Given the description of an element on the screen output the (x, y) to click on. 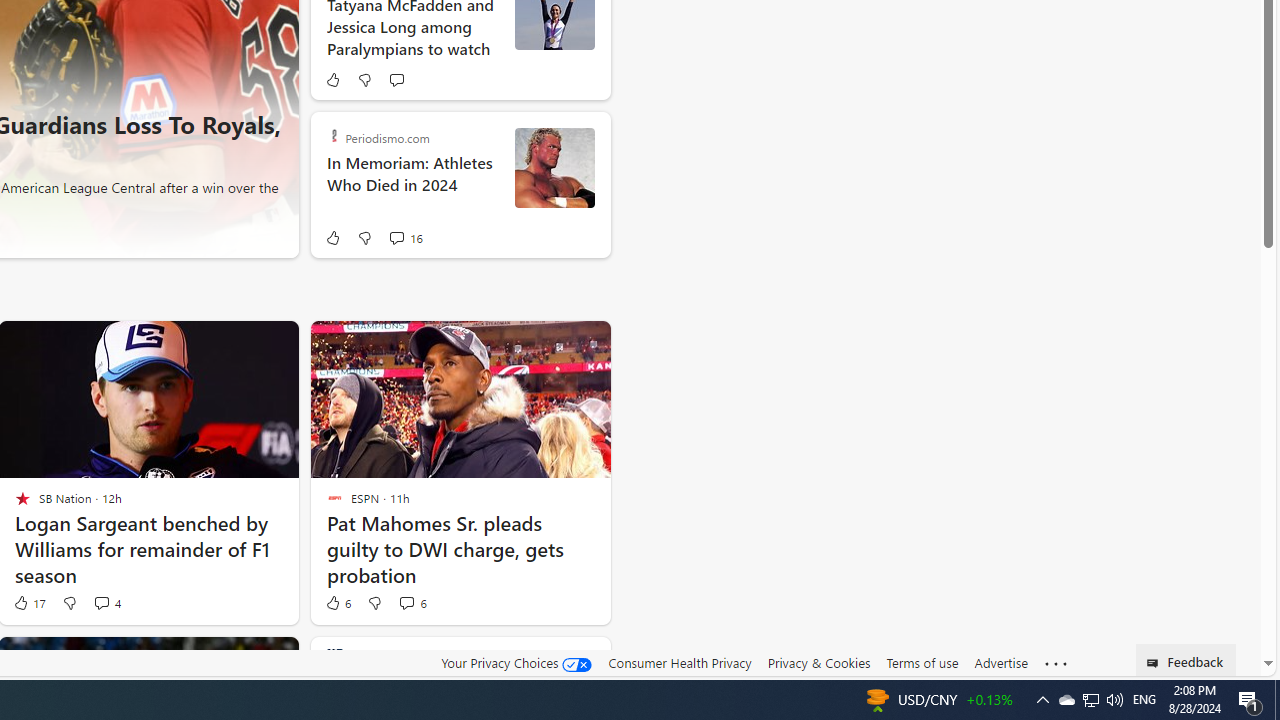
Terms of use (921, 663)
Terms of use (921, 662)
Sid Eudy - August 26 (554, 168)
Your Privacy Choices (516, 662)
View comments 6 Comment (406, 602)
Privacy & Cookies (818, 663)
Class: feedback_link_icon-DS-EntryPoint1-1 (1156, 663)
Consumer Health Privacy (680, 663)
next (271, 26)
View comments 16 Comment (395, 237)
Like (332, 237)
Periodismo.com (333, 135)
In Memoriam: Athletes Who Died in 2024 (412, 184)
